Given the description of an element on the screen output the (x, y) to click on. 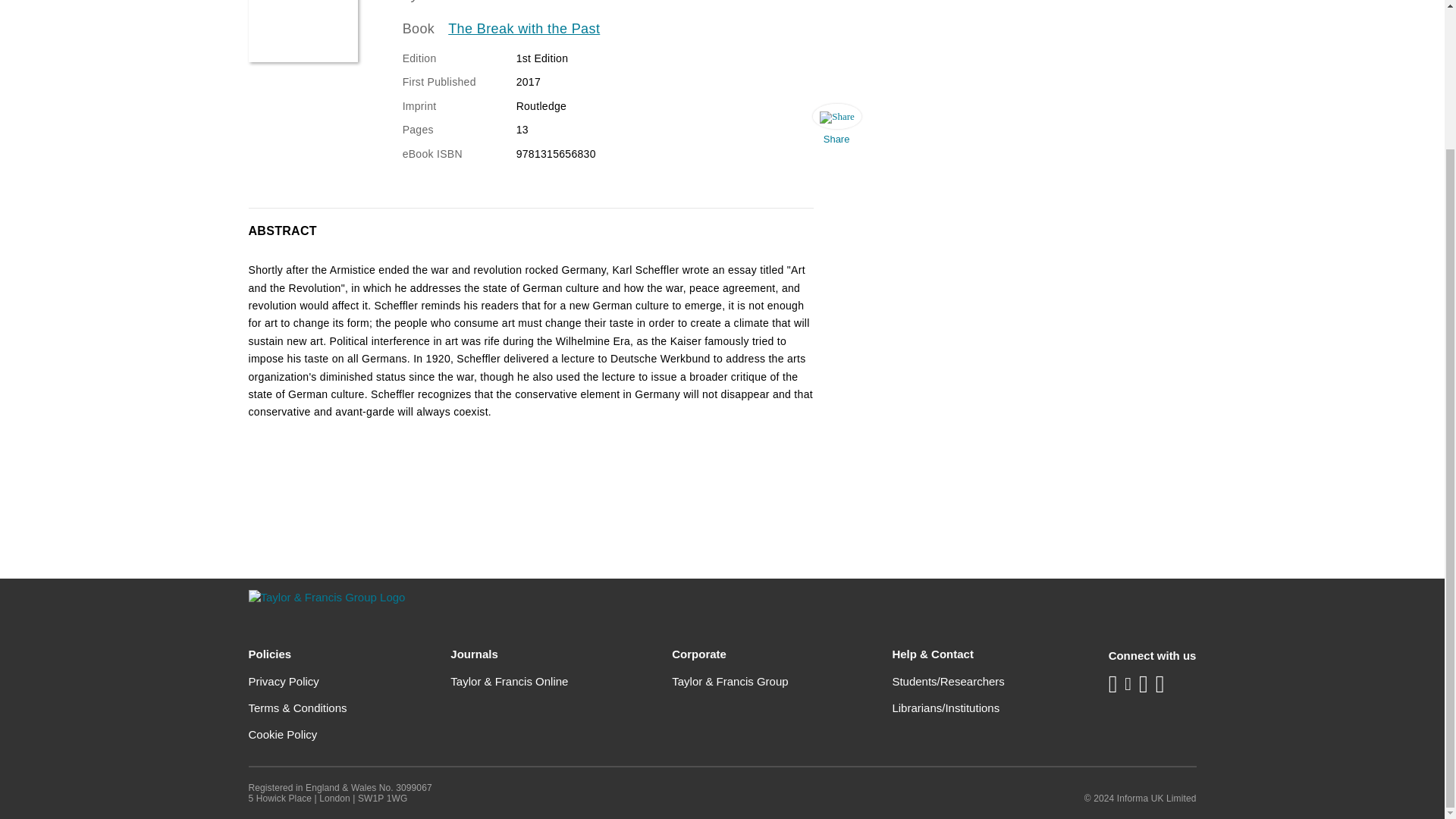
Deborah Ascher Barnstone (508, 1)
The Break with the Past (523, 29)
Cookie Policy (282, 734)
Art and the revolution (303, 31)
Share (836, 127)
Privacy Policy (283, 681)
